Given the description of an element on the screen output the (x, y) to click on. 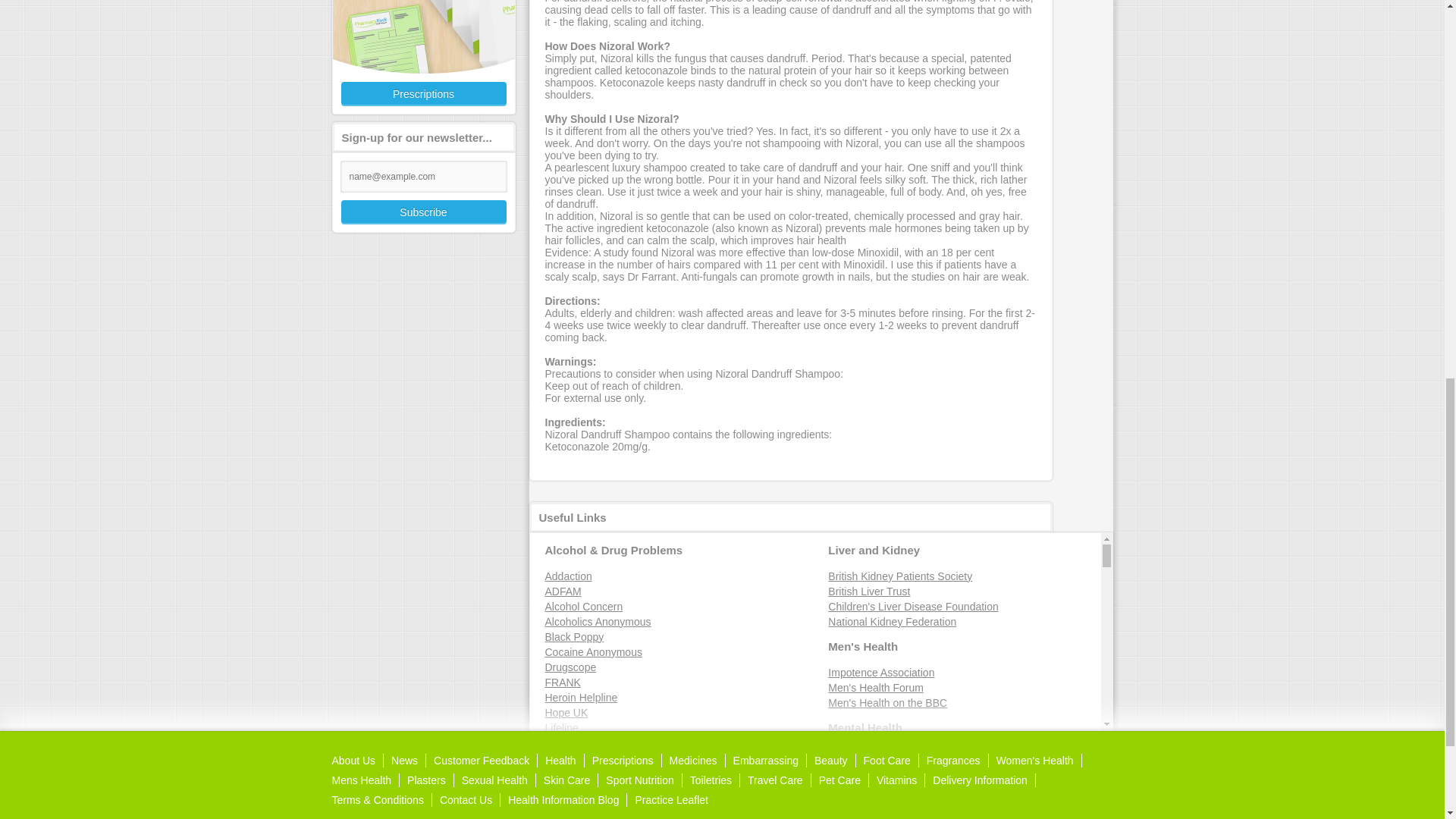
Prescriptions (423, 93)
Subscribe (423, 211)
Prescriptions (422, 57)
